Given the description of an element on the screen output the (x, y) to click on. 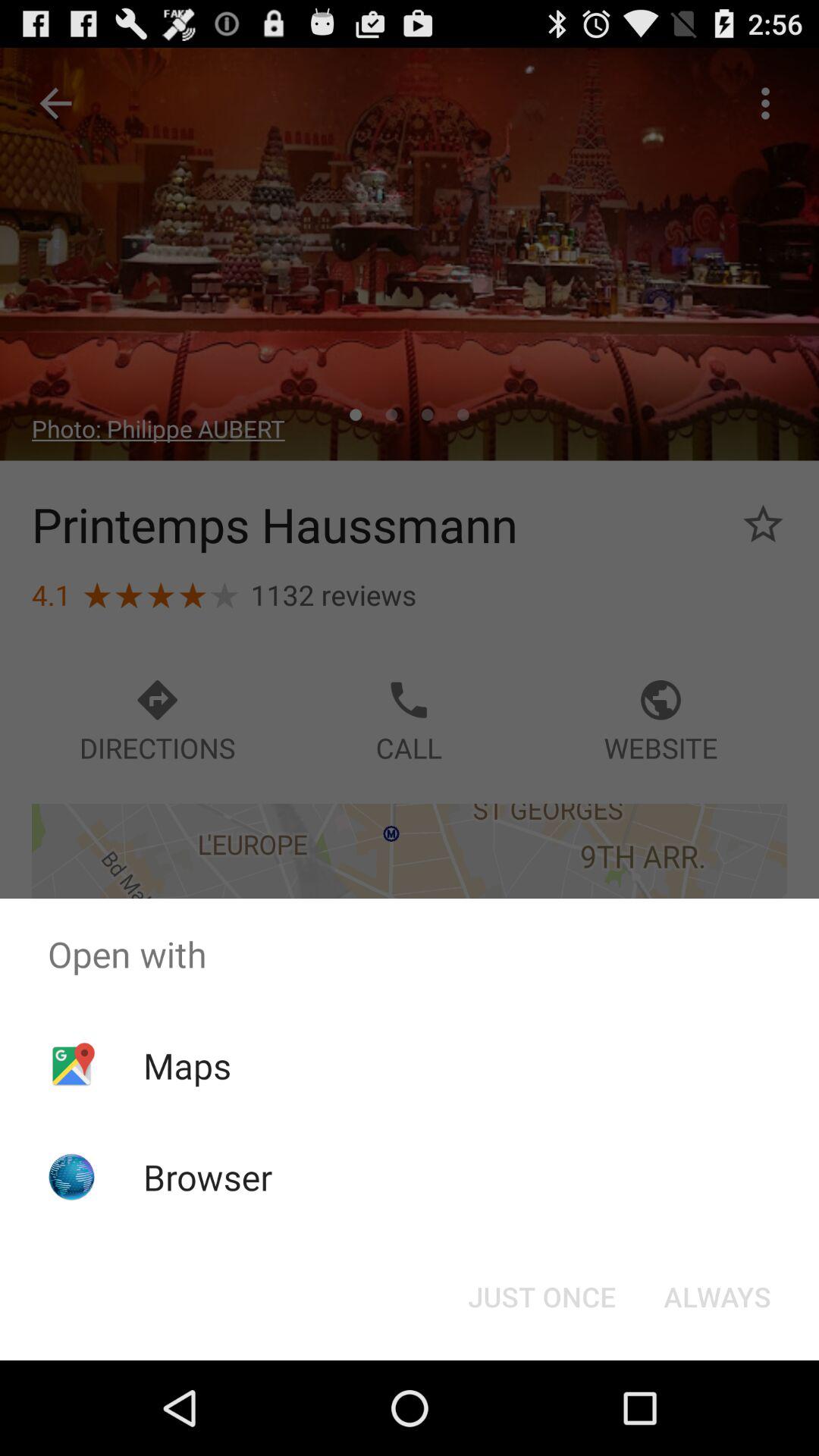
tap the just once at the bottom (541, 1296)
